Given the description of an element on the screen output the (x, y) to click on. 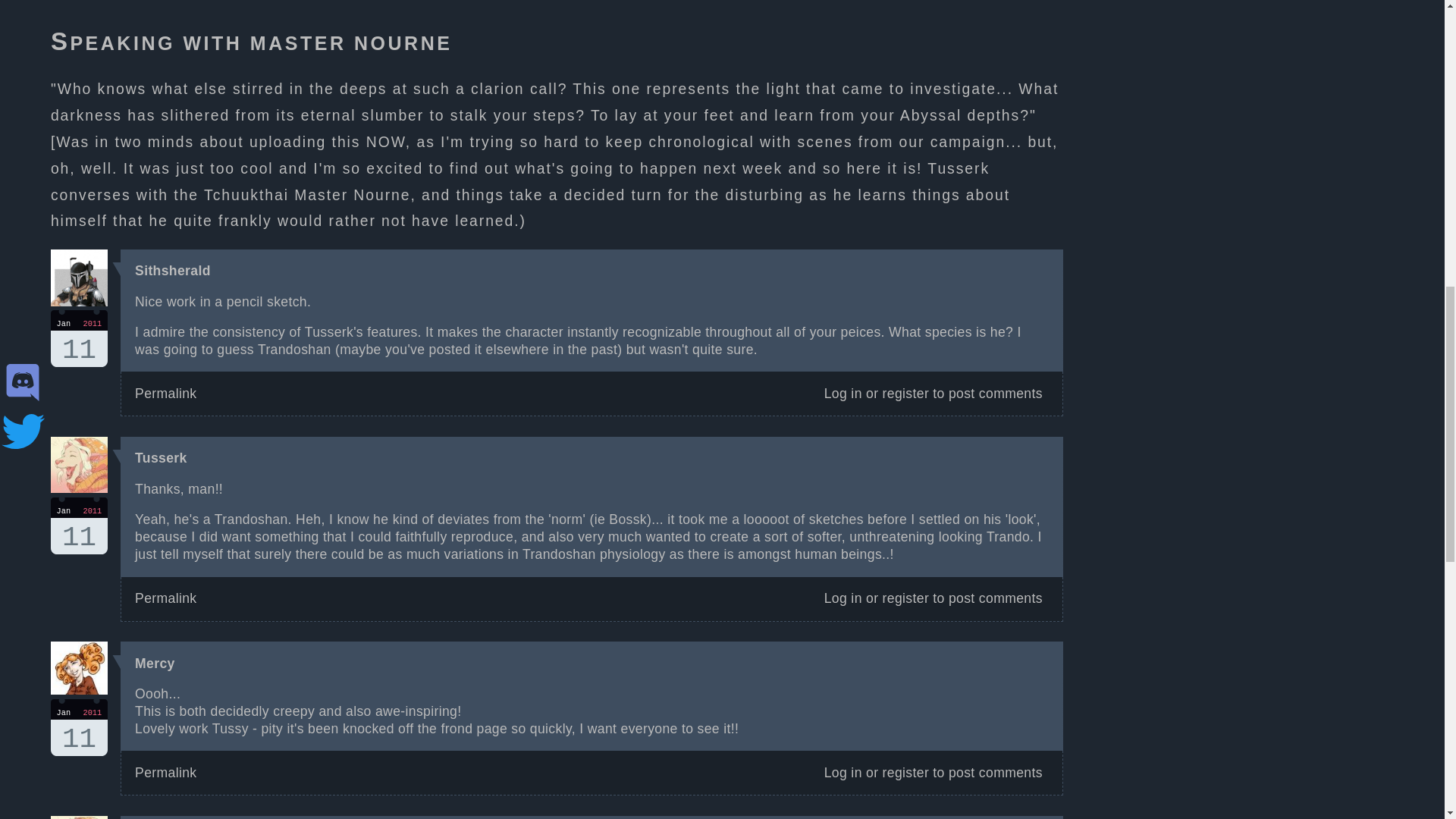
Permalink (78, 338)
register (165, 772)
View user profile. (905, 598)
Permalink (154, 663)
register (78, 727)
Log in (165, 393)
Log in (78, 525)
